Given the description of an element on the screen output the (x, y) to click on. 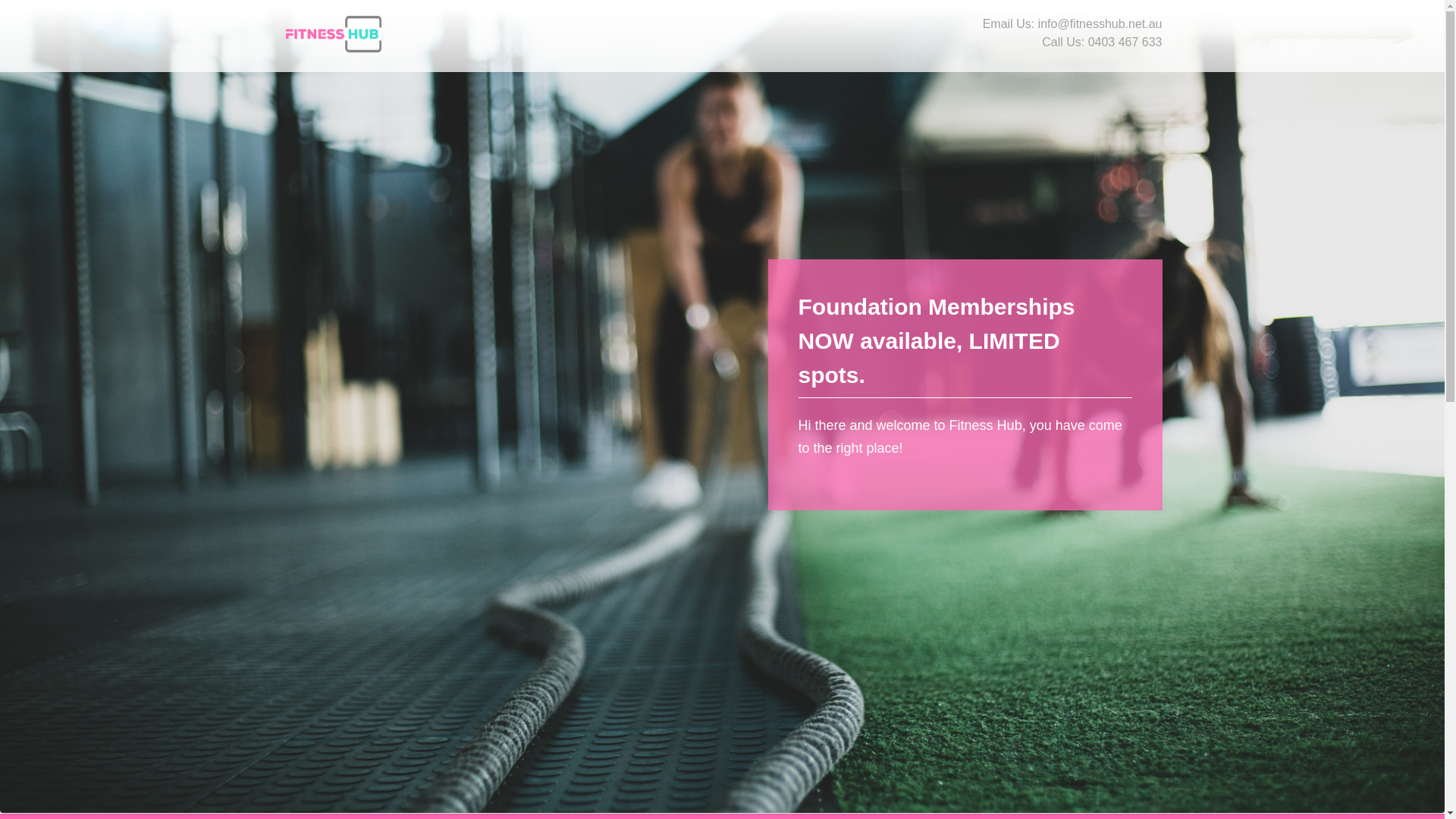
Call Us: 0403 467 633 Element type: text (1101, 41)
Email Us: info@fitnesshub.net.au Element type: text (1072, 23)
